Given the description of an element on the screen output the (x, y) to click on. 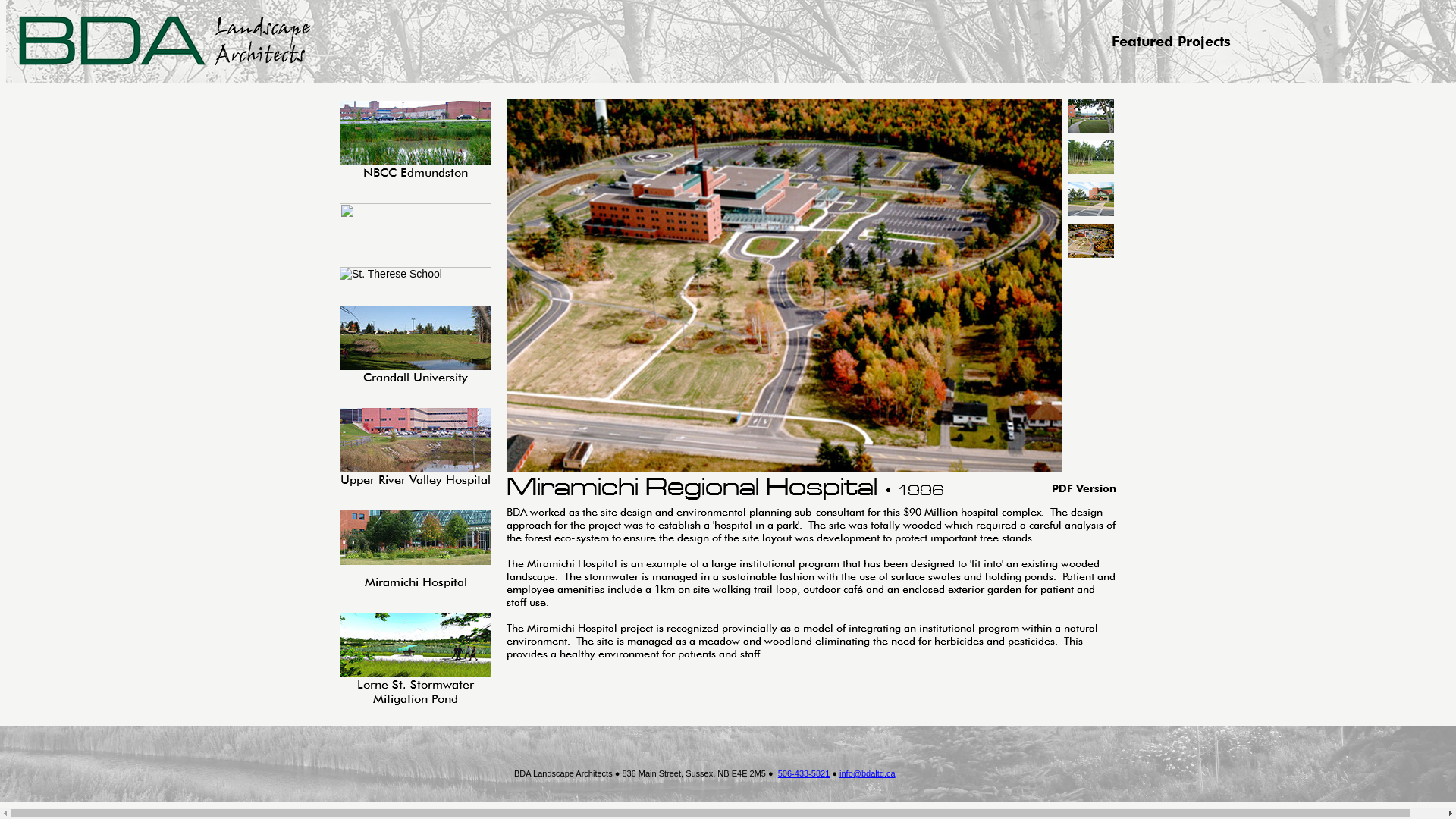
info@bdaltd.ca Element type: text (867, 773)
506-433-5821 Element type: text (804, 773)
